Given the description of an element on the screen output the (x, y) to click on. 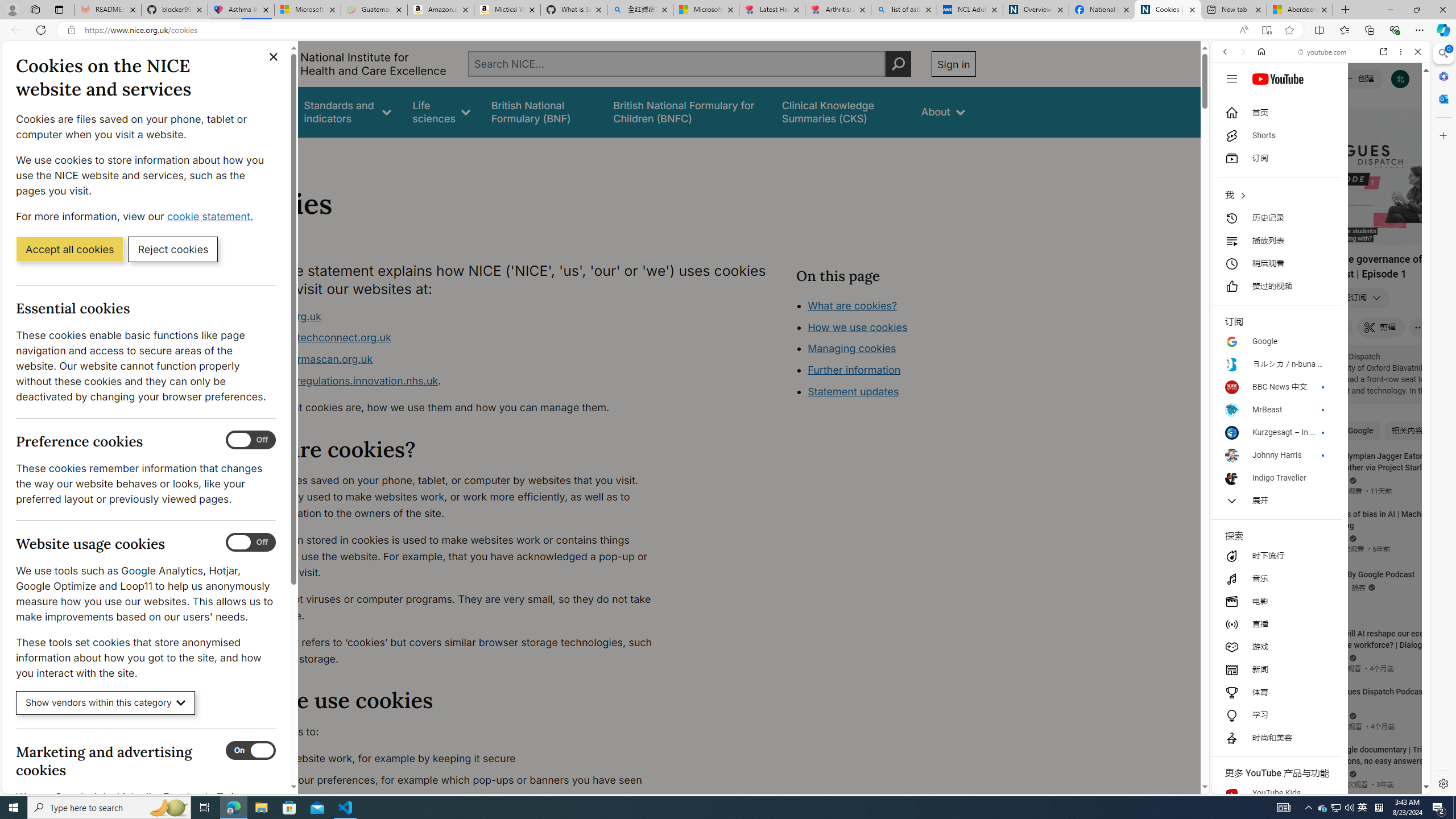
Forward (1242, 51)
Global web icon (1232, 655)
Reject cookies (173, 248)
Trailer #2 [HD] (1320, 336)
www.ukpharmascan.org.uk (305, 359)
About (283, 152)
Website usage cookies (250, 542)
Class: b_serphb (1404, 130)
Click to scroll right (1407, 456)
